Given the description of an element on the screen output the (x, y) to click on. 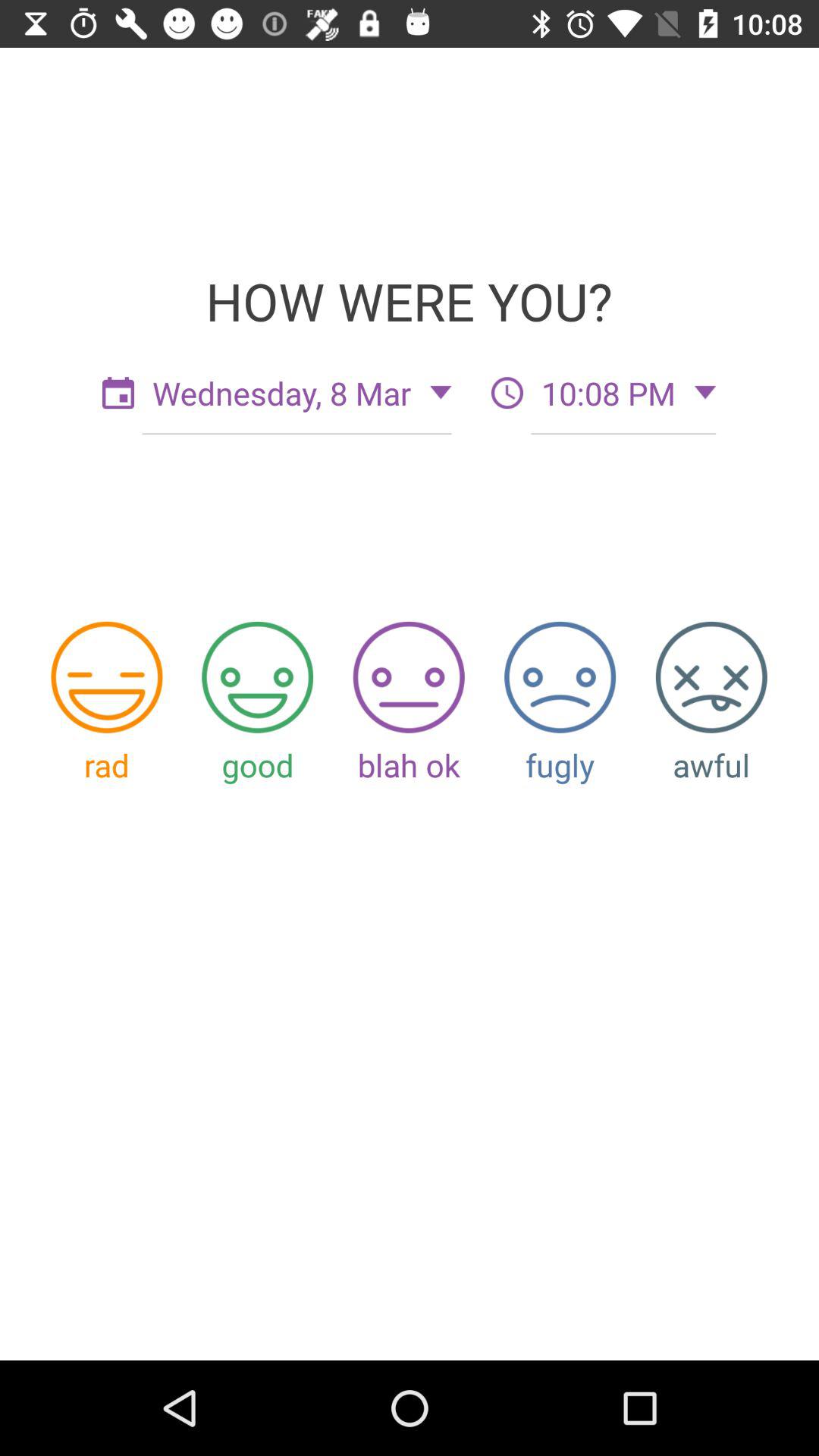
select the rating (559, 677)
